Given the description of an element on the screen output the (x, y) to click on. 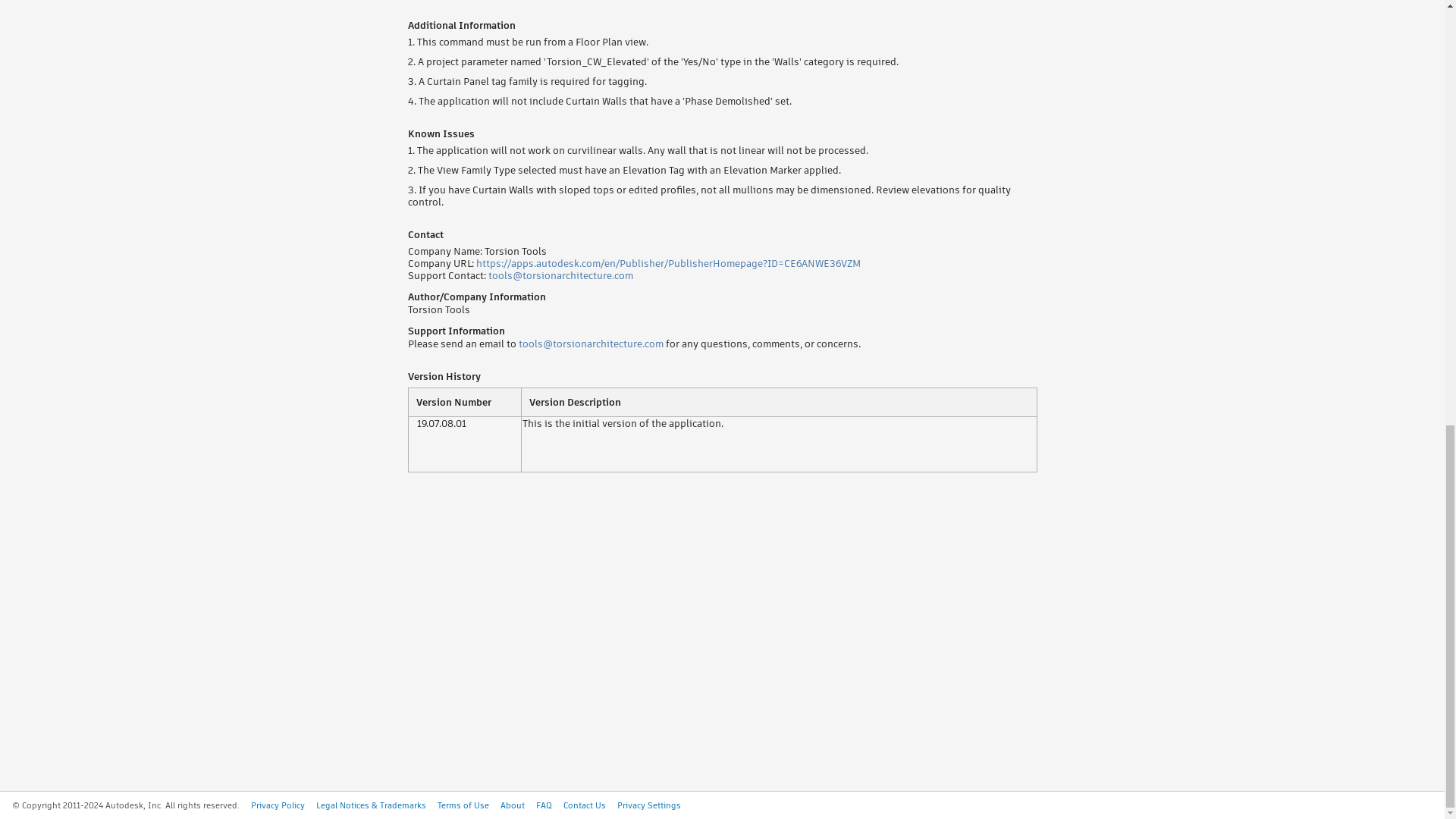
Privacy Policy (277, 805)
Contact Us (584, 805)
FAQ (543, 805)
Terms of Use (463, 805)
